Given the description of an element on the screen output the (x, y) to click on. 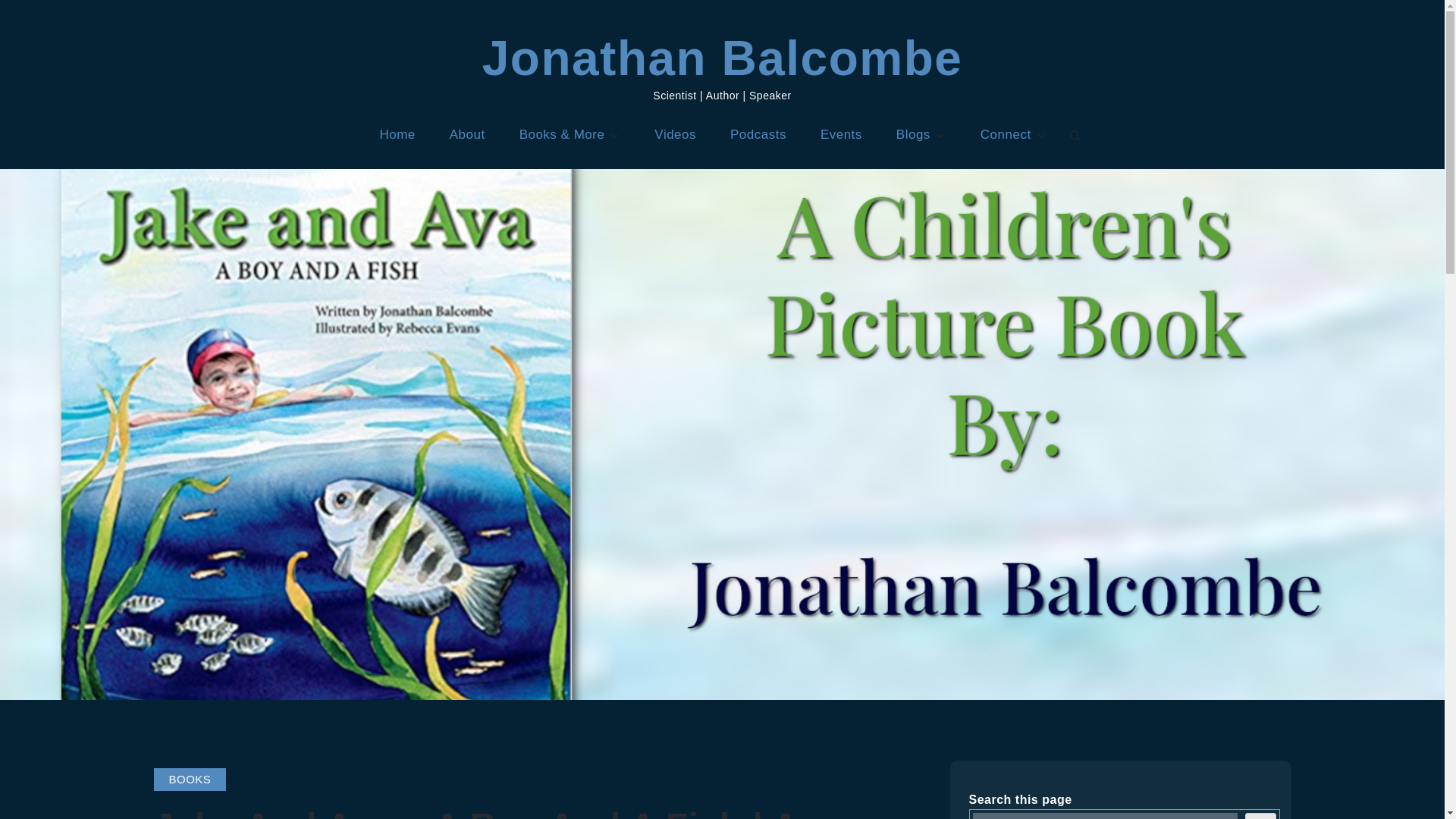
Podcasts (758, 134)
Connect (1013, 134)
Videos (675, 134)
Blogs (920, 134)
Events (841, 134)
About (466, 134)
BOOKS (189, 779)
Jonathan Balcombe (721, 58)
Home (396, 134)
